Given the description of an element on the screen output the (x, y) to click on. 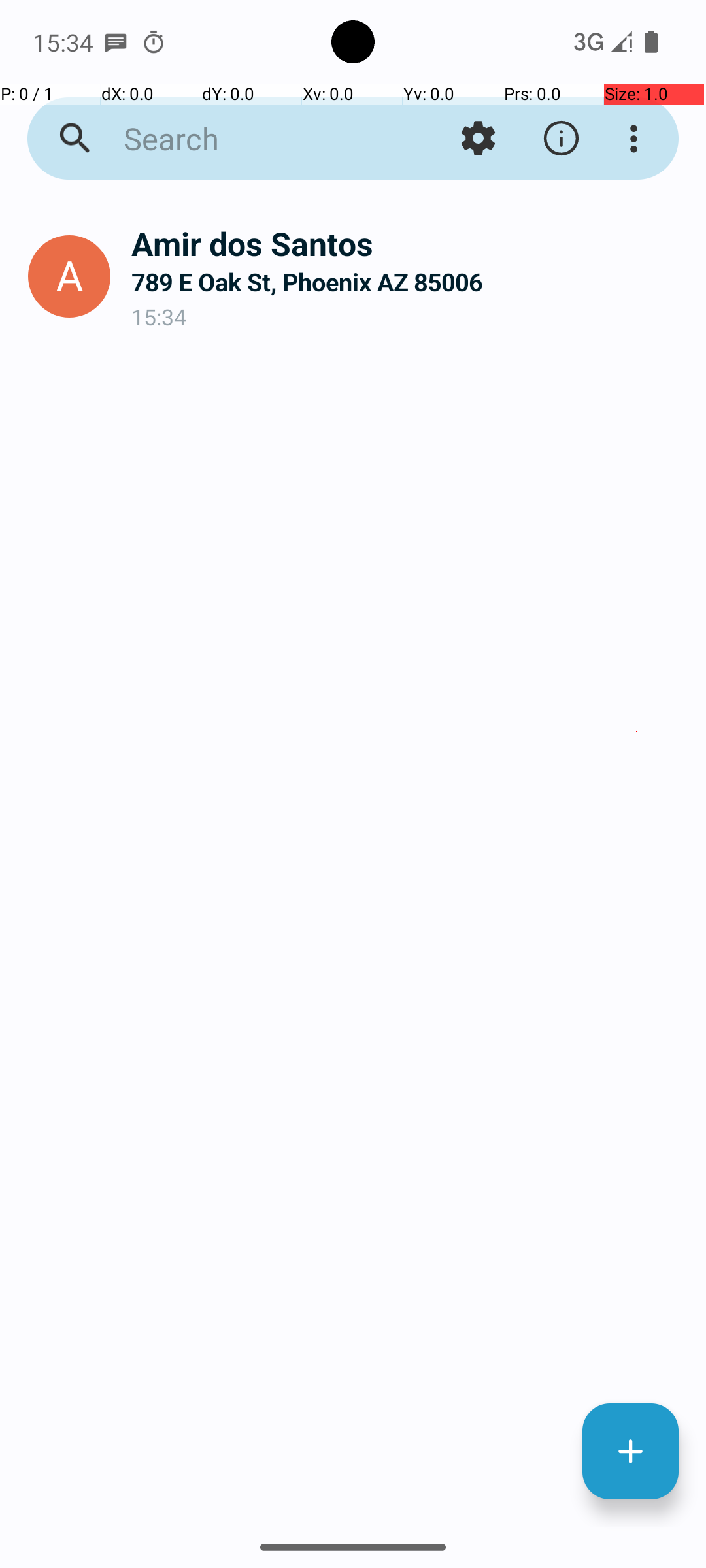
Amir dos Santos Element type: android.widget.TextView (408, 242)
789 E Oak St, Phoenix AZ 85006 Element type: android.widget.TextView (408, 281)
SMS Messenger notification: Amir dos Santos Element type: android.widget.ImageView (115, 41)
